Given the description of an element on the screen output the (x, y) to click on. 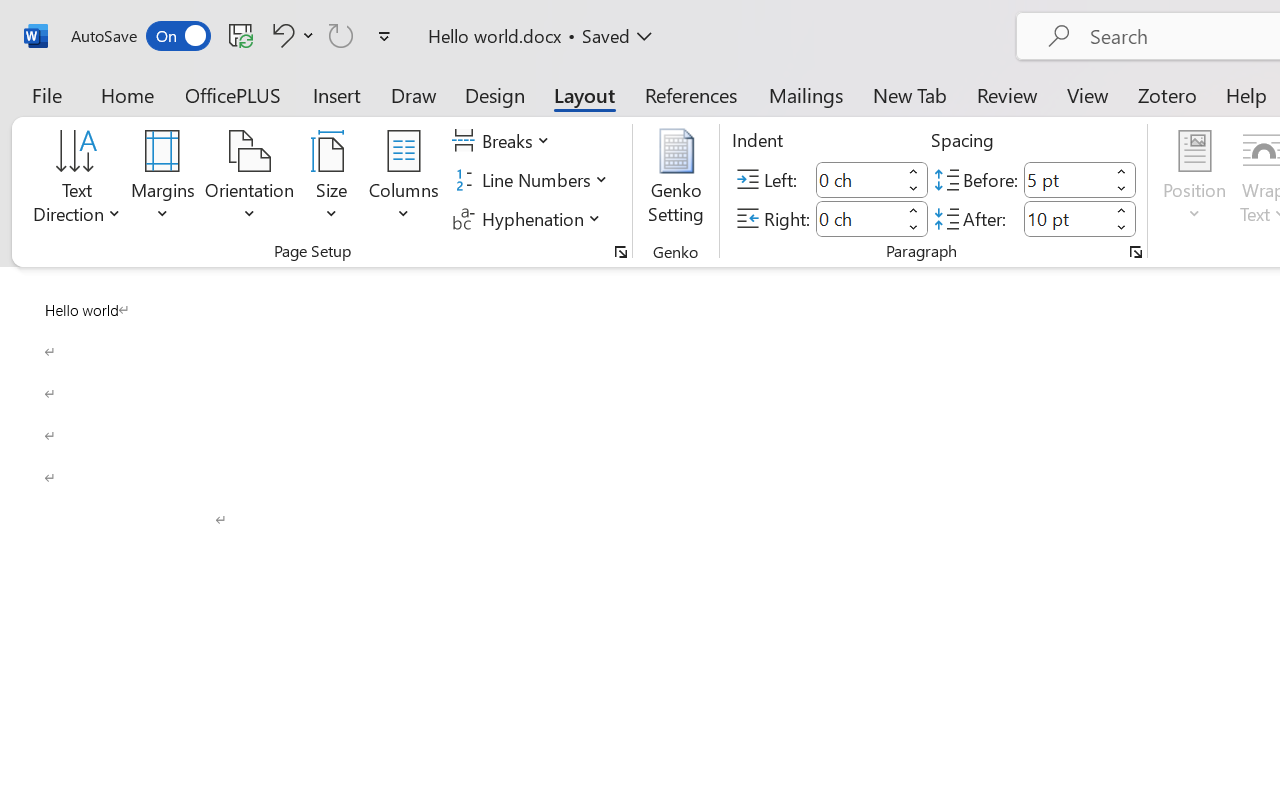
File Tab (46, 94)
More Options (308, 35)
View (1087, 94)
Undo Subscript (280, 35)
Position (1194, 179)
Repeat Subscript (341, 35)
Review (1007, 94)
Indent Right (858, 218)
Save (241, 35)
Columns (404, 179)
Indent Left (858, 179)
Home (127, 94)
Draw (413, 94)
Spacing After (1066, 218)
